Given the description of an element on the screen output the (x, y) to click on. 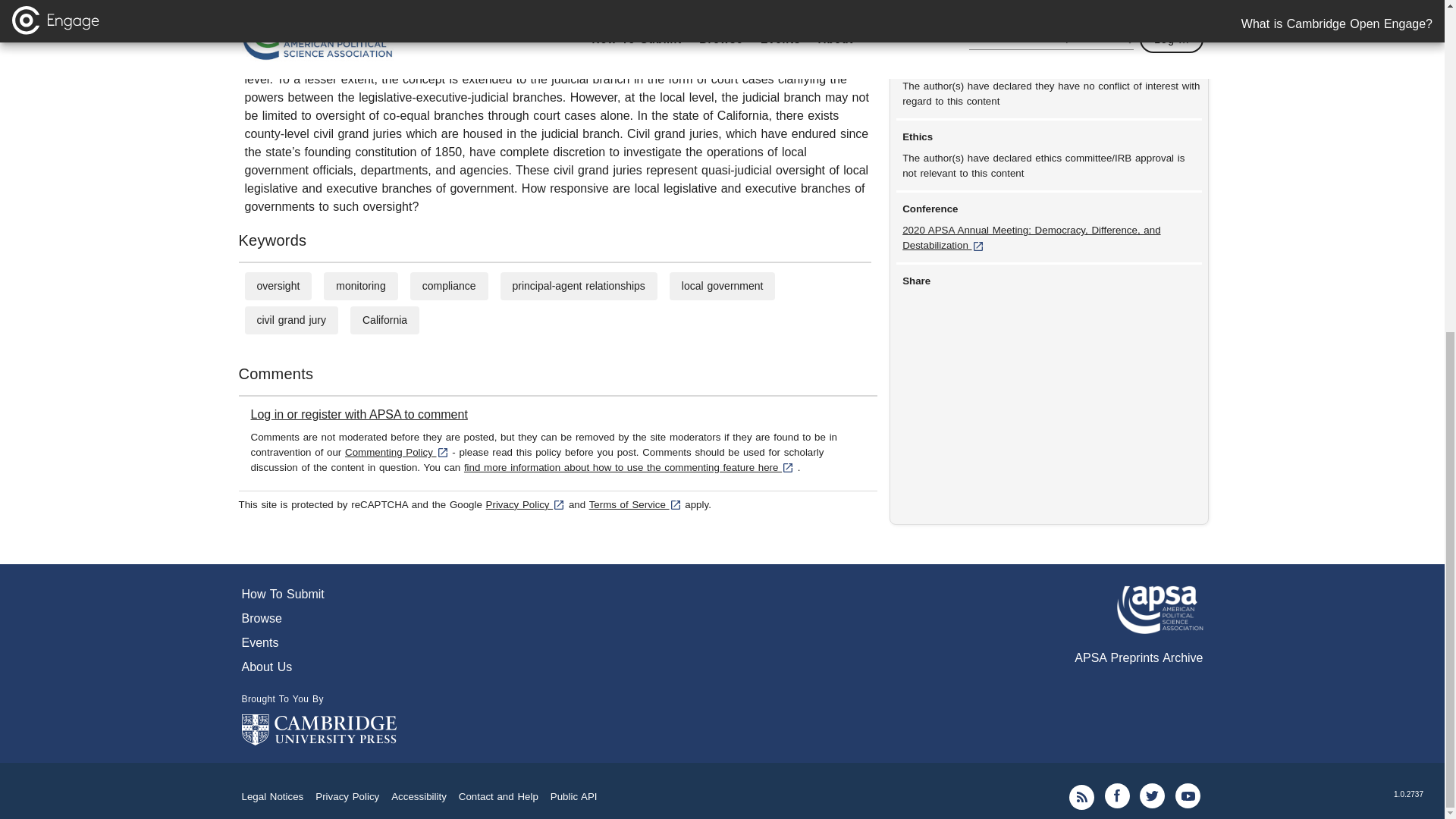
civil grand jury (290, 319)
local government (721, 285)
monitoring (360, 285)
California (384, 319)
principal-agent relationships (578, 285)
oversight (277, 285)
Log in or register with APSA to comment (358, 414)
compliance (449, 285)
